Given the description of an element on the screen output the (x, y) to click on. 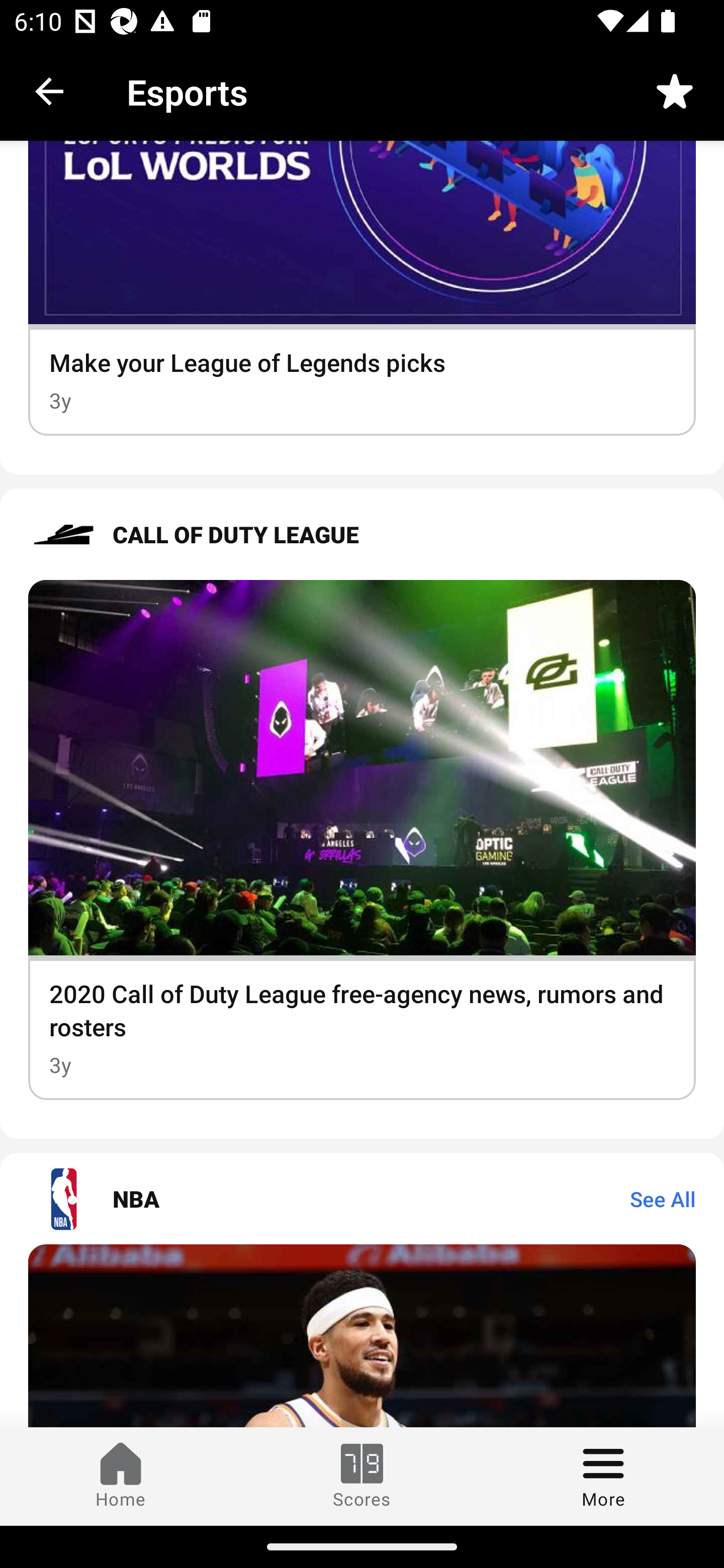
back.button (49, 90)
Favorite toggle (674, 90)
Make your League of Legends picks 3y (361, 288)
CALL OF DUTY LEAGUE (362, 534)
NBA See All (362, 1198)
Home (120, 1475)
Scores (361, 1475)
